Given the description of an element on the screen output the (x, y) to click on. 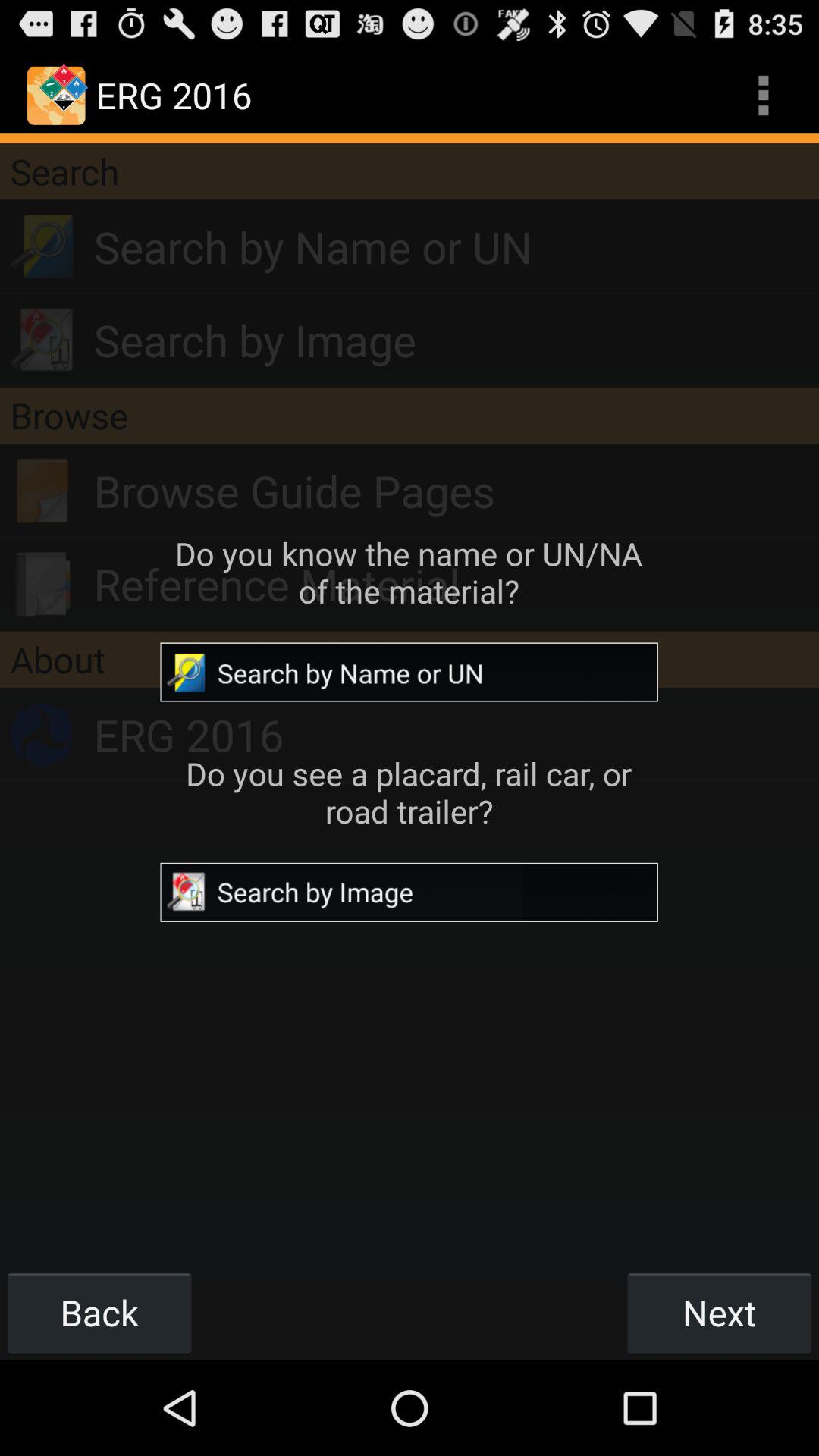
turn off item to the left of next item (99, 1312)
